Given the description of an element on the screen output the (x, y) to click on. 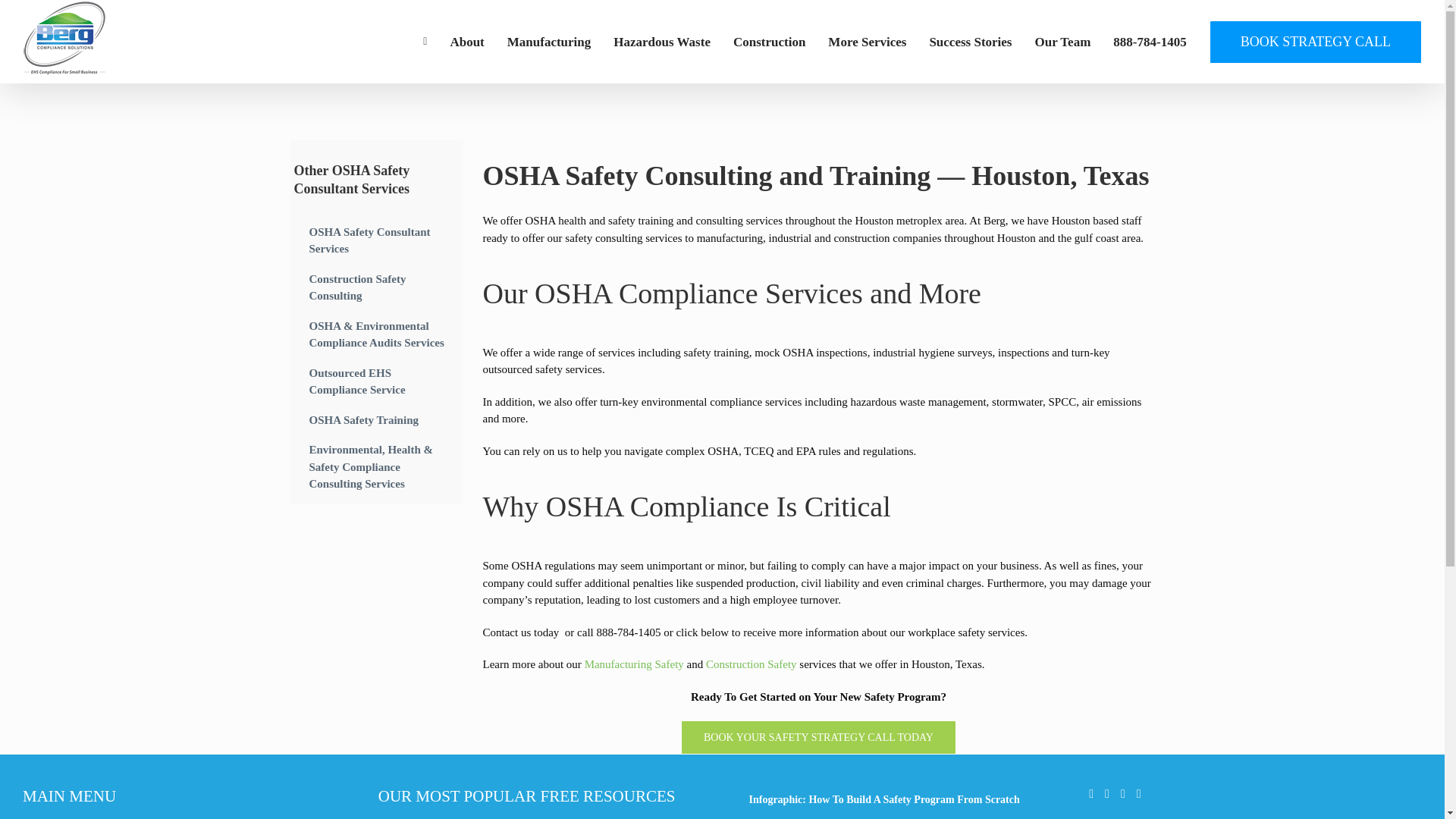
Manufacturing (548, 41)
BOOK STRATEGY CALL (1315, 41)
OSHA Safety Consultant Services (376, 240)
Manufacturing Safety (634, 664)
Construction Safety (751, 664)
OSHA Safety Training (376, 420)
Construction Safety Consulting (376, 288)
Outsourced EHS Compliance Service (376, 381)
Success Stories (969, 41)
Hazardous Waste (661, 41)
